Given the description of an element on the screen output the (x, y) to click on. 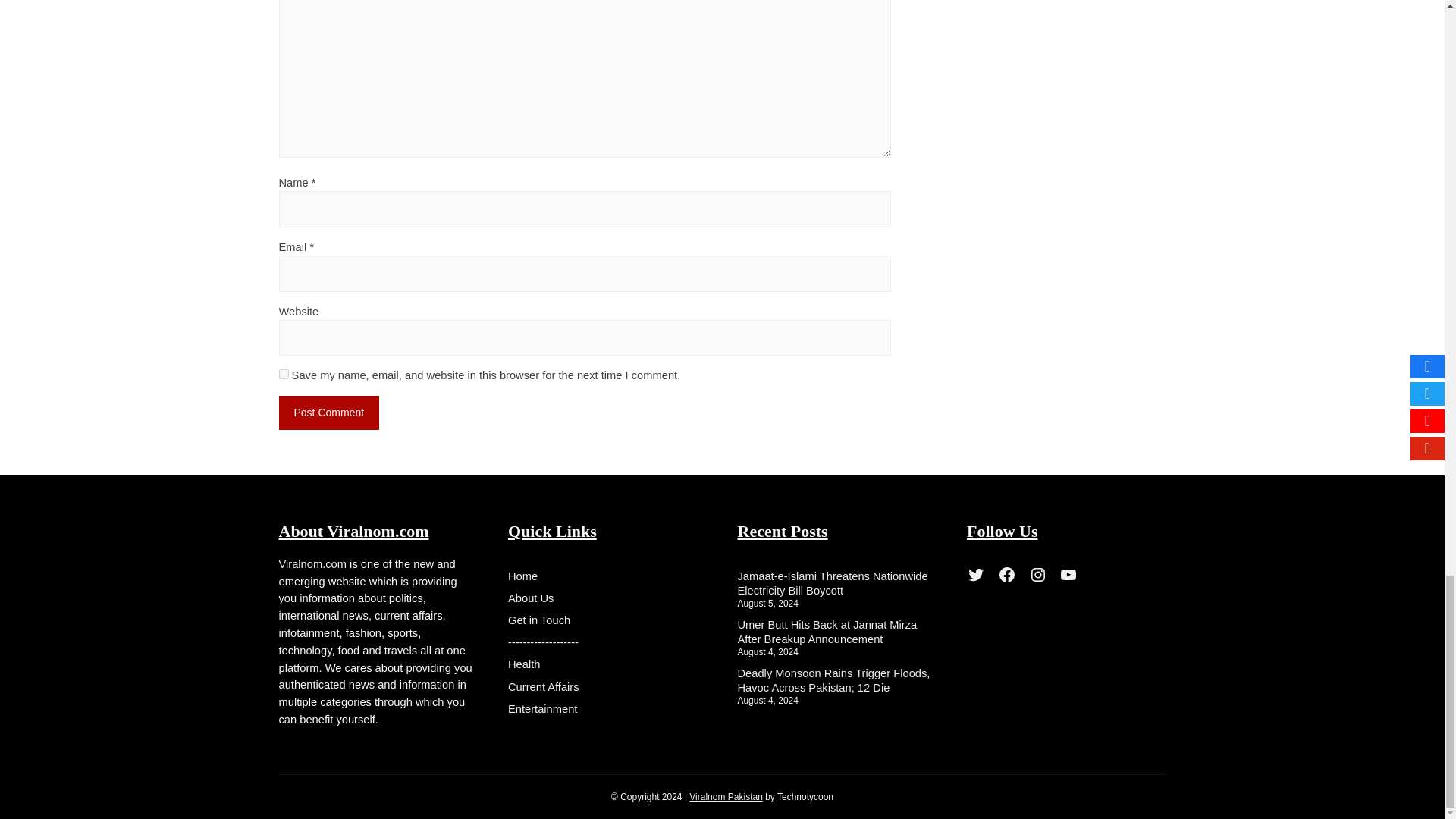
Post Comment (329, 412)
yes (283, 374)
Copyright 2024 (725, 796)
Post Comment (329, 412)
